Given the description of an element on the screen output the (x, y) to click on. 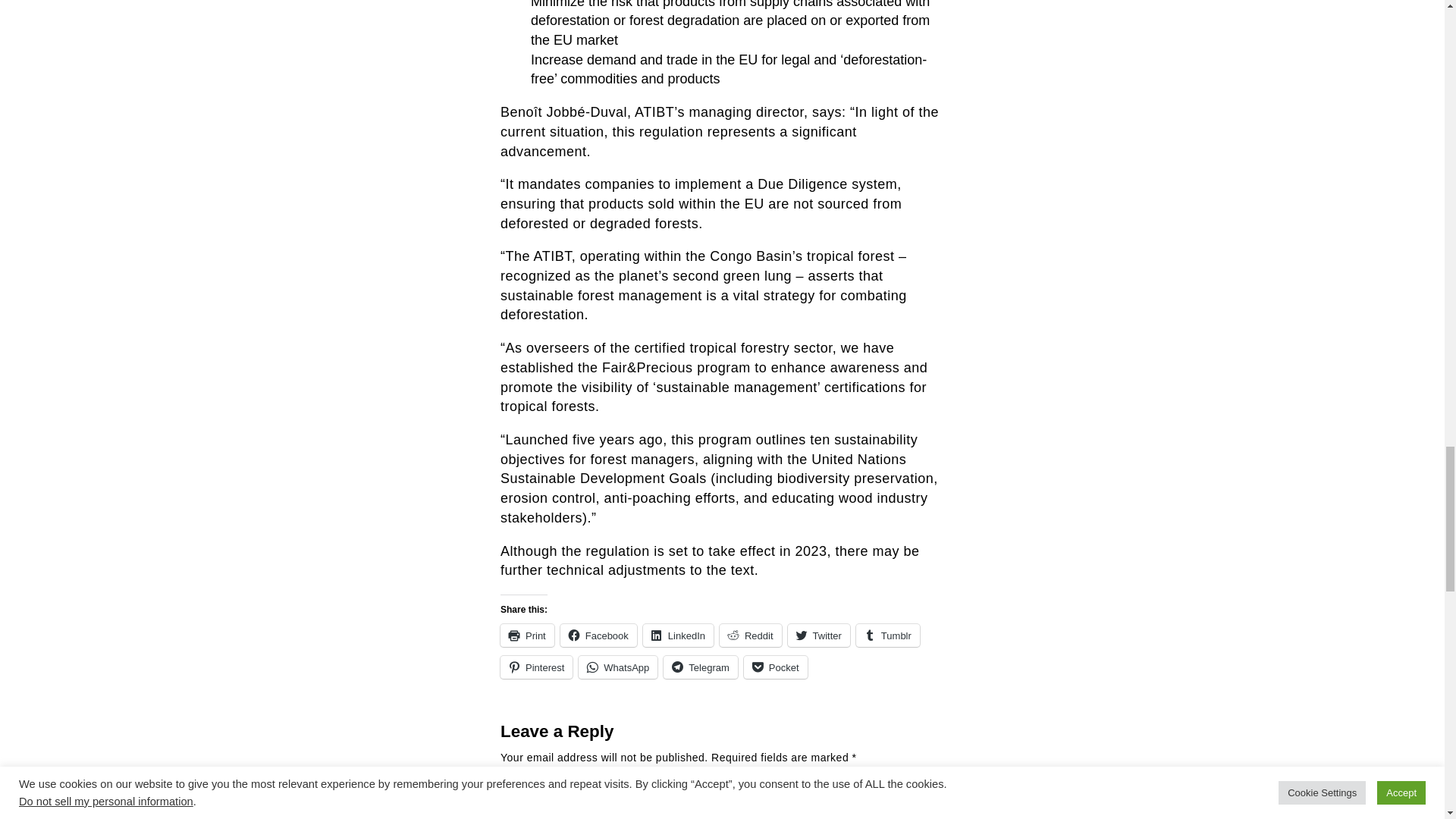
Click to share on Twitter (818, 635)
Click to print (527, 635)
Click to share on Facebook (598, 635)
Click to share on Telegram (699, 667)
Click to share on Pinterest (536, 667)
Click to share on WhatsApp (618, 667)
Click to share on Pocket (776, 667)
Click to share on Tumblr (888, 635)
Click to share on LinkedIn (678, 635)
Click to share on Reddit (750, 635)
